Given the description of an element on the screen output the (x, y) to click on. 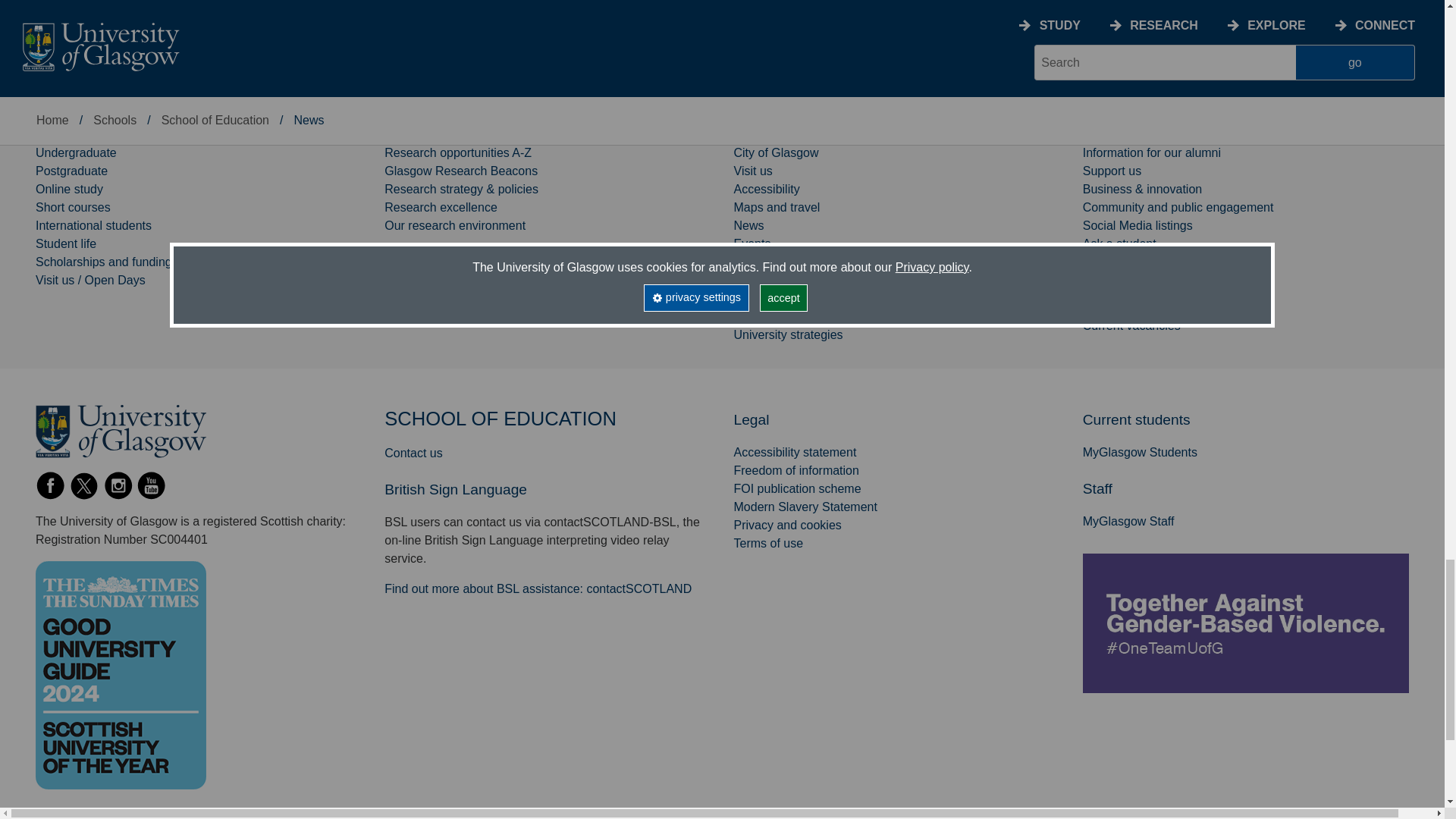
STUDY (59, 101)
Subjects A-Z (69, 133)
